Given the description of an element on the screen output the (x, y) to click on. 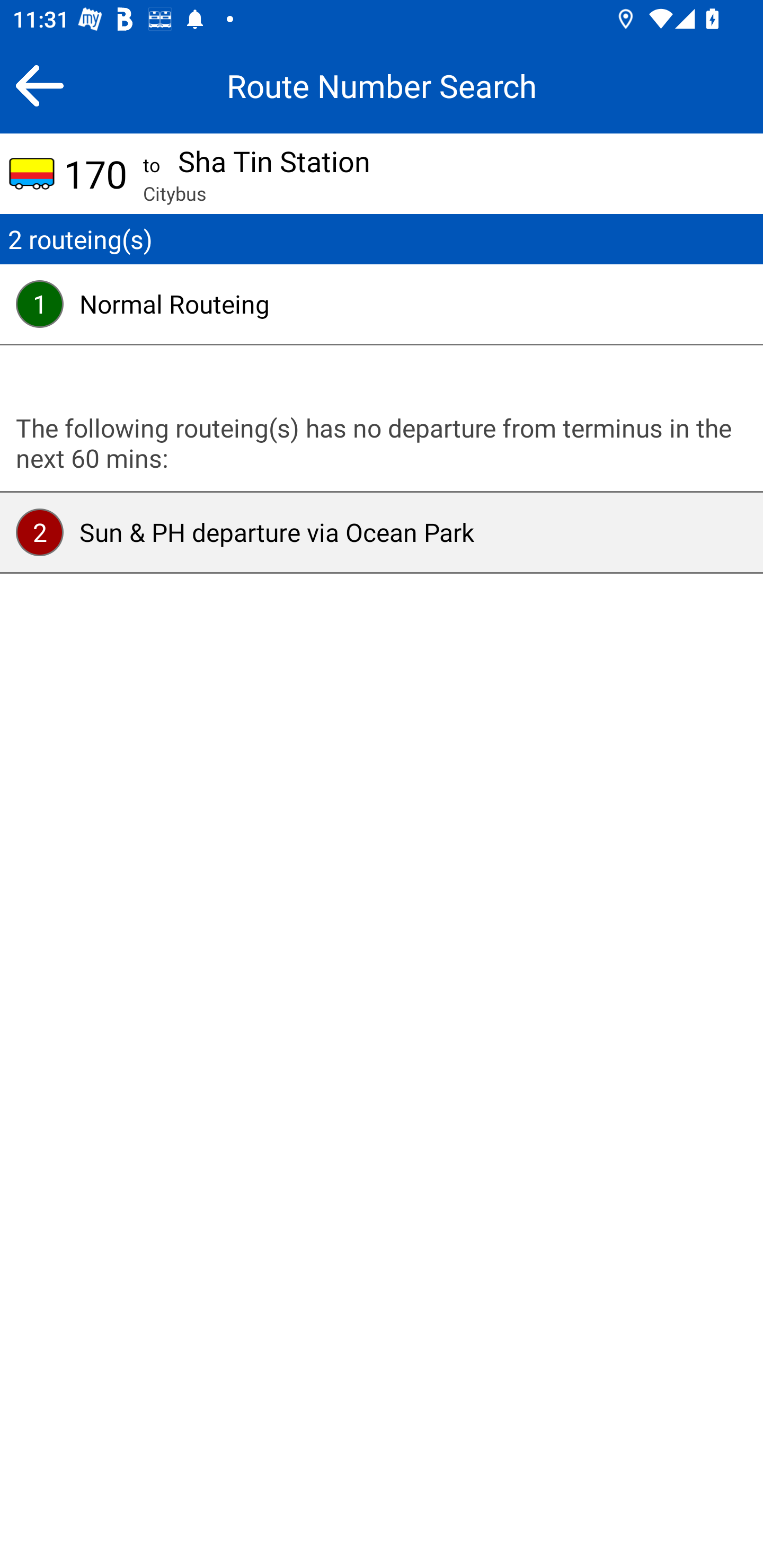
Back (39, 85)
1 Normal Routeing (381, 303)
2 Sun & PH departure via Ocean Park (381, 532)
